Given the description of an element on the screen output the (x, y) to click on. 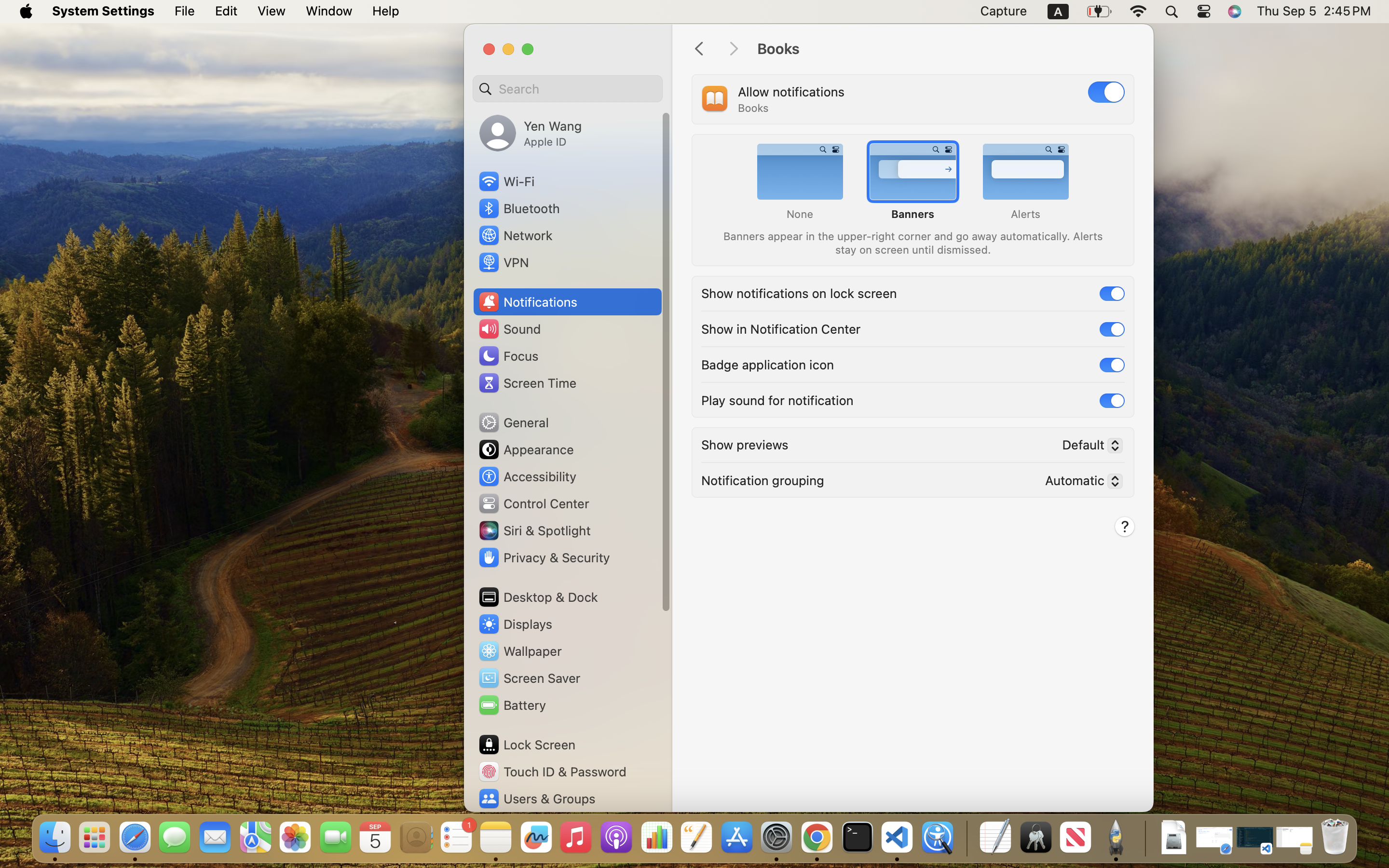
Control Center Element type: AXStaticText (533, 503)
Siri & Spotlight Element type: AXStaticText (533, 530)
Displays Element type: AXStaticText (514, 623)
Privacy & Security Element type: AXStaticText (543, 557)
Focus Element type: AXStaticText (507, 355)
